Given the description of an element on the screen output the (x, y) to click on. 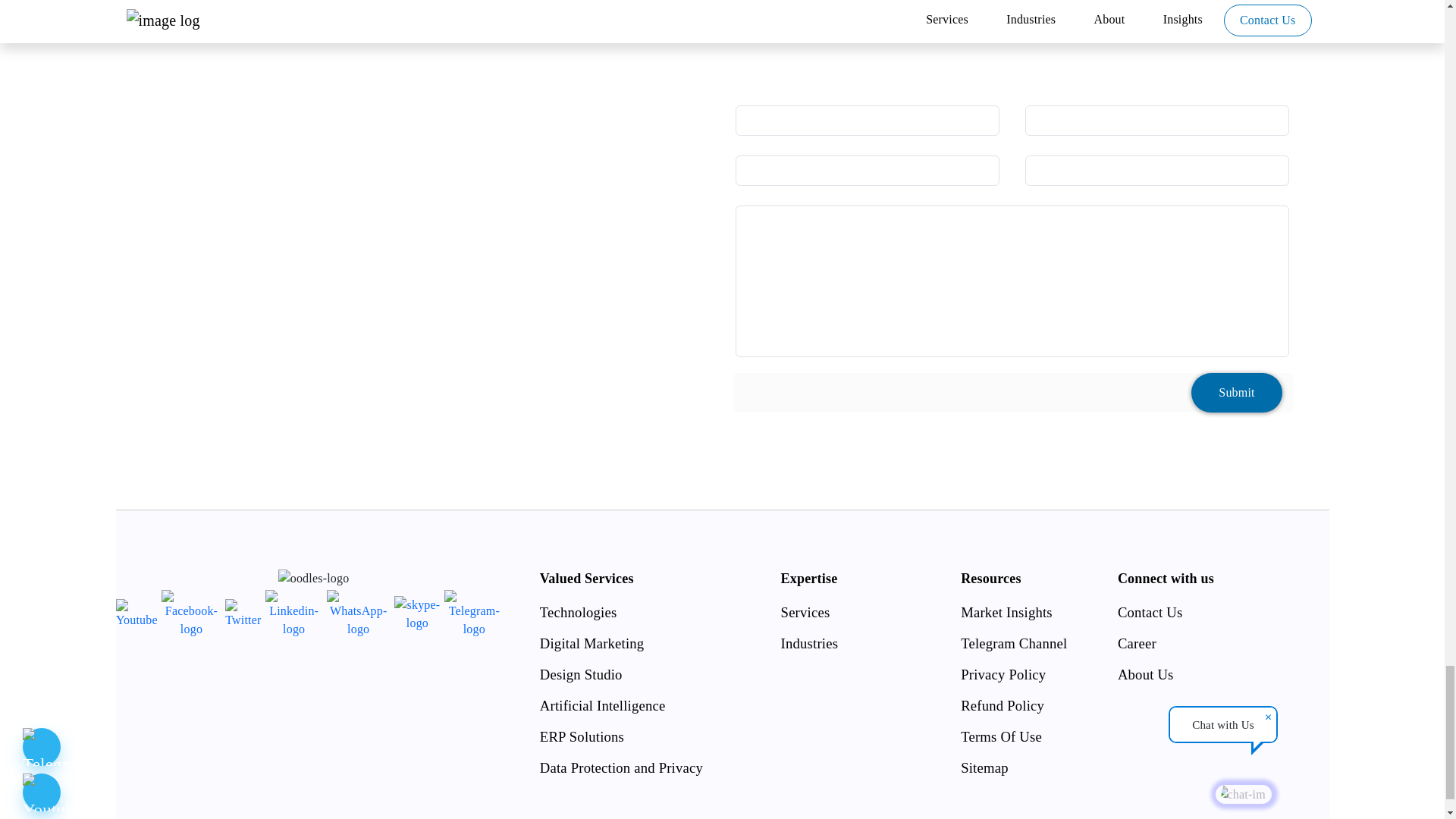
Linkedin (293, 613)
Twitter (242, 613)
Telegram (473, 613)
WhatsApp (358, 613)
Facebook (191, 613)
Skype (417, 614)
Youtube (136, 613)
